Given the description of an element on the screen output the (x, y) to click on. 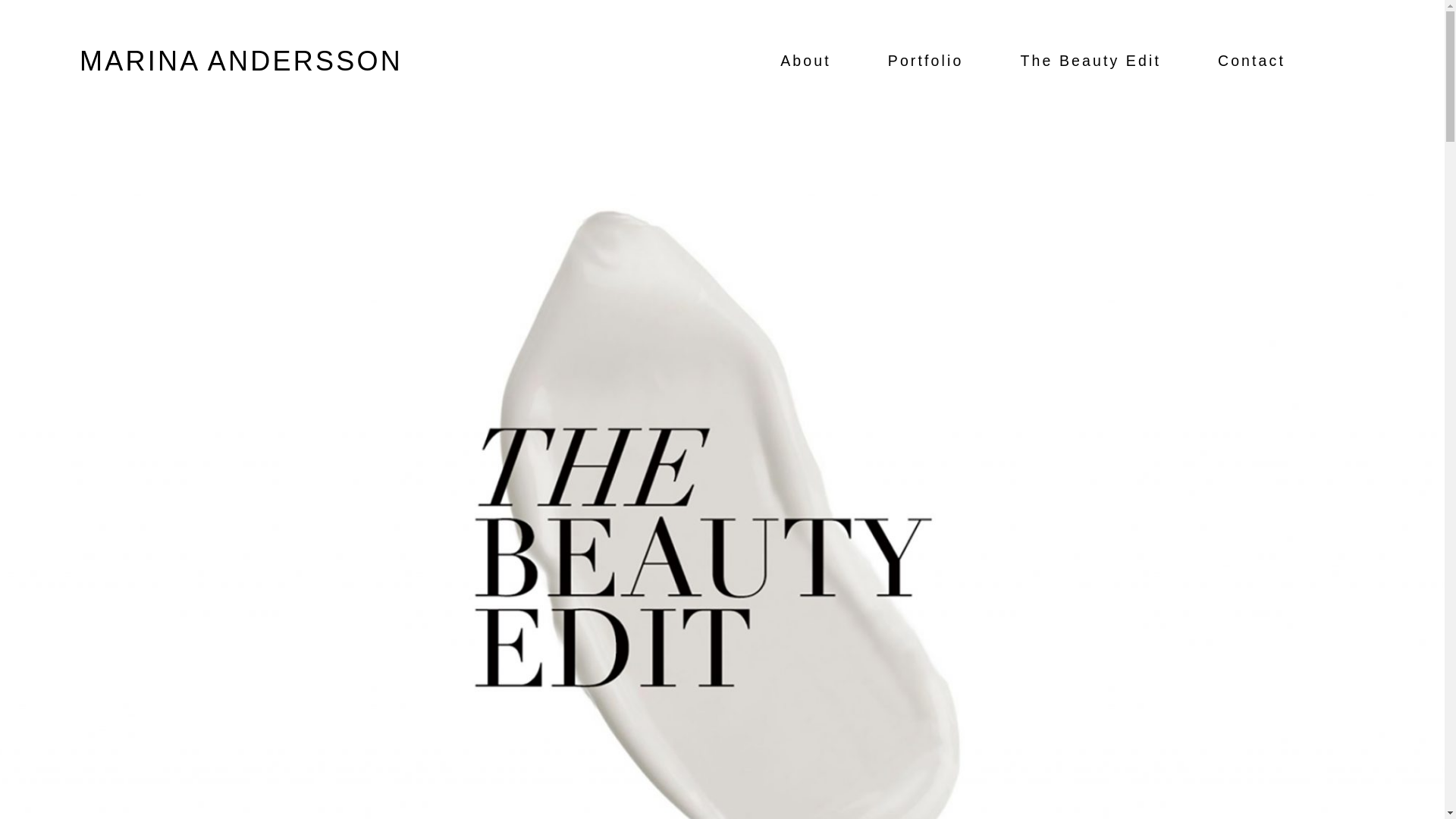
MARINA ANDERSSON (241, 60)
The Beauty Edit (1090, 60)
